Given the description of an element on the screen output the (x, y) to click on. 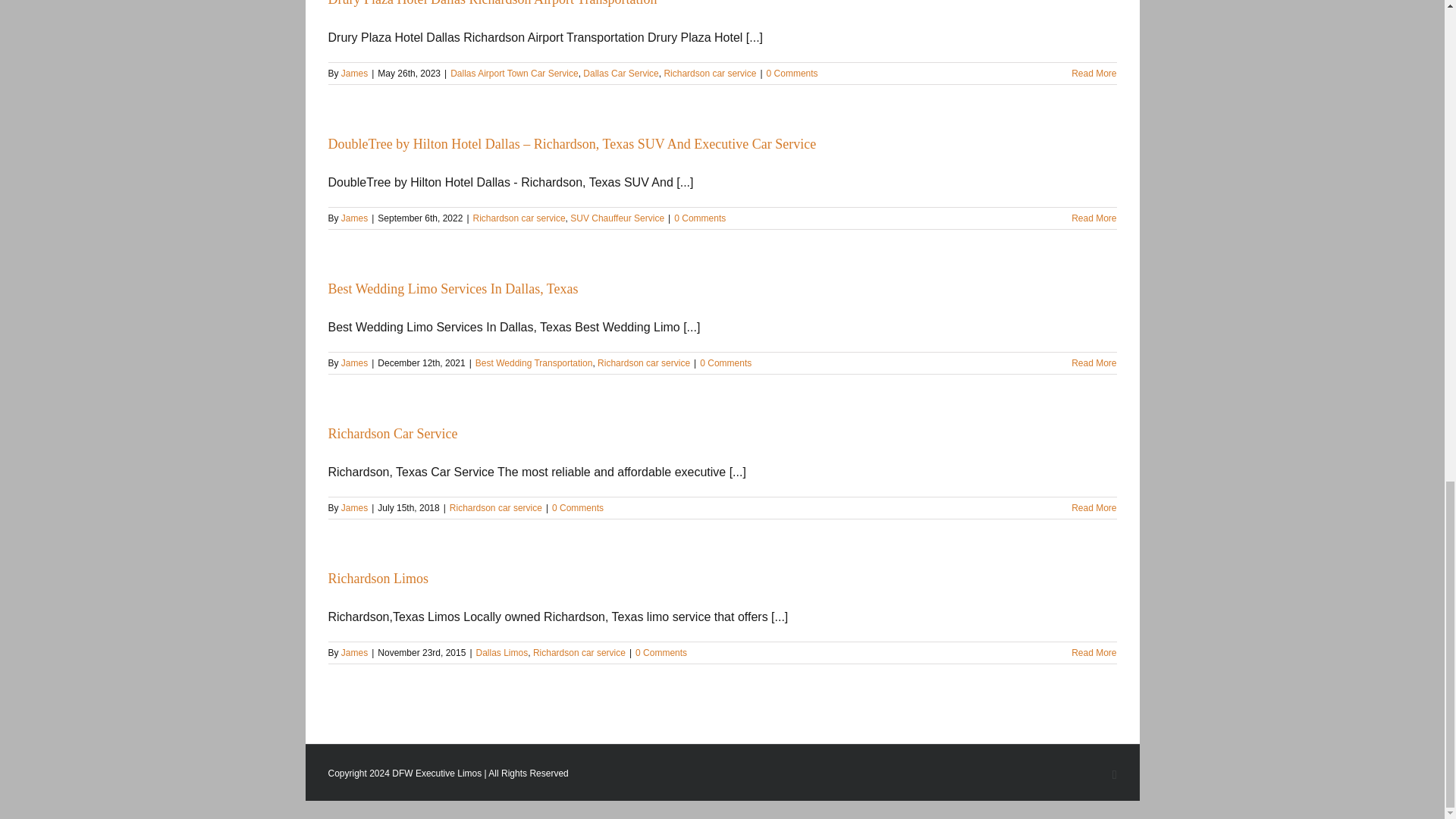
Posts by James (354, 362)
Posts by James (354, 72)
Posts by James (354, 507)
Posts by James (354, 217)
Posts by James (354, 652)
